Given the description of an element on the screen output the (x, y) to click on. 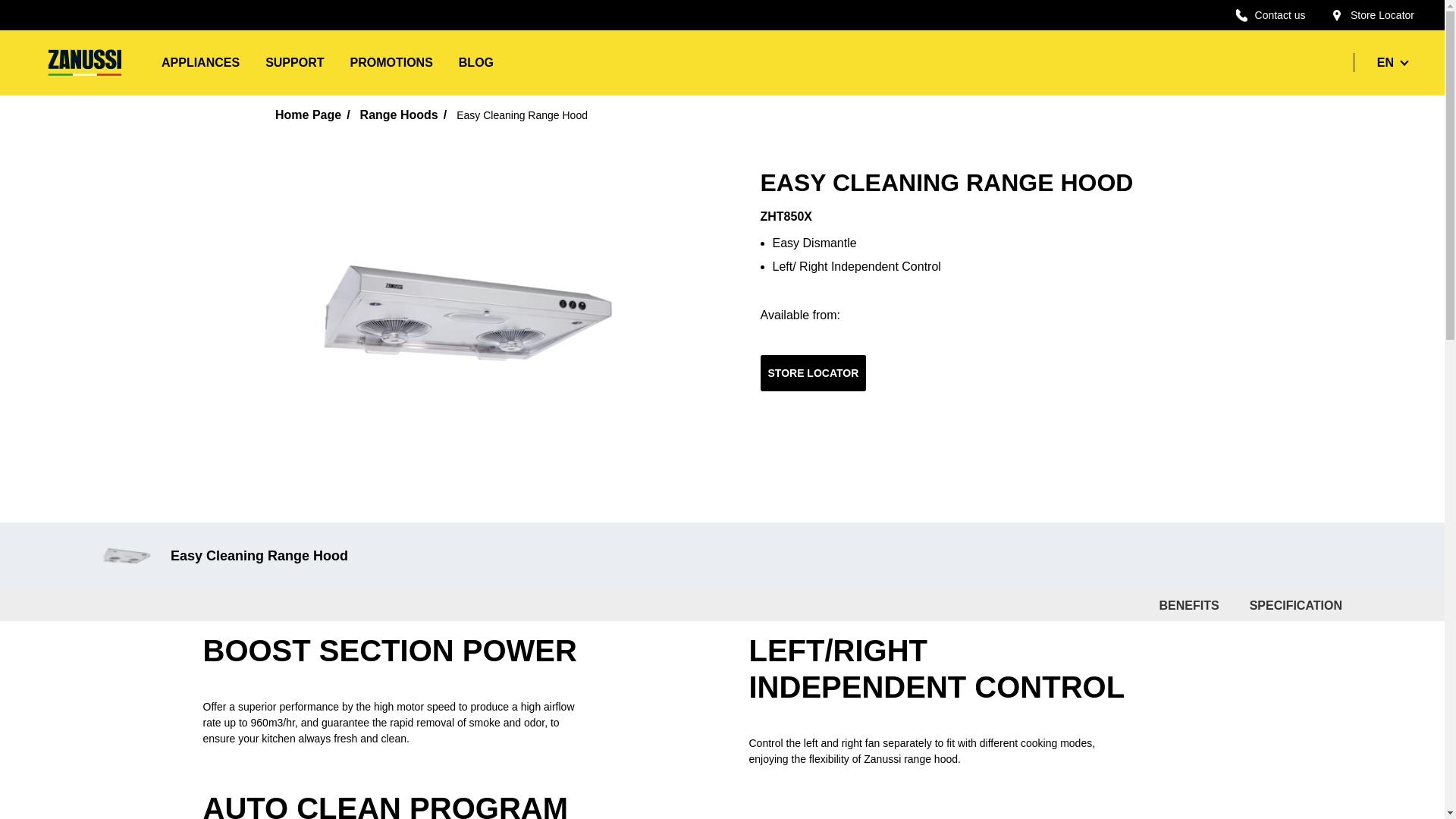
SUPPORT (293, 61)
Store Locator (1372, 15)
APPLIANCES (199, 61)
Contact us (1271, 15)
